Given the description of an element on the screen output the (x, y) to click on. 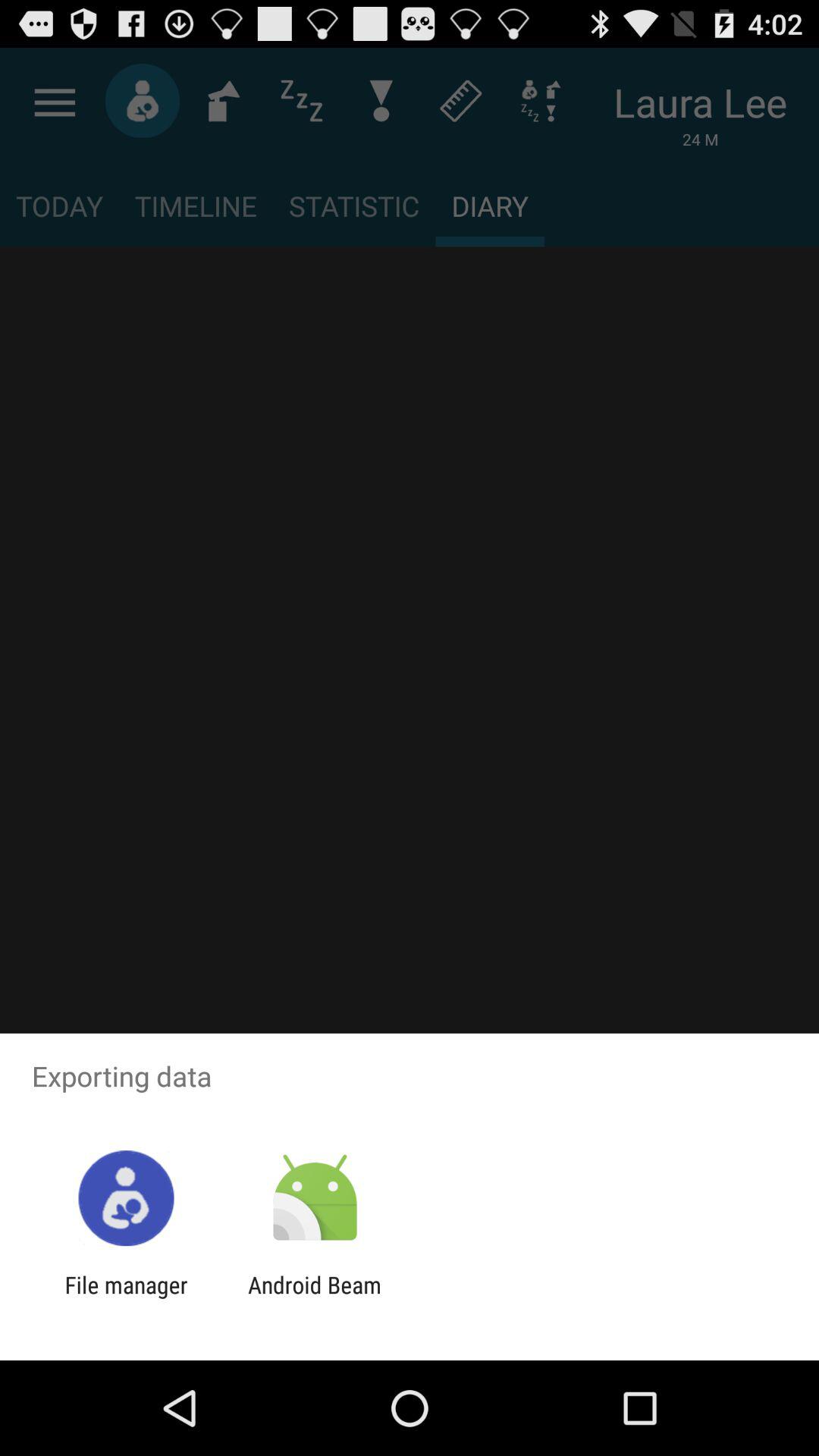
launch the item next to android beam icon (125, 1298)
